Given the description of an element on the screen output the (x, y) to click on. 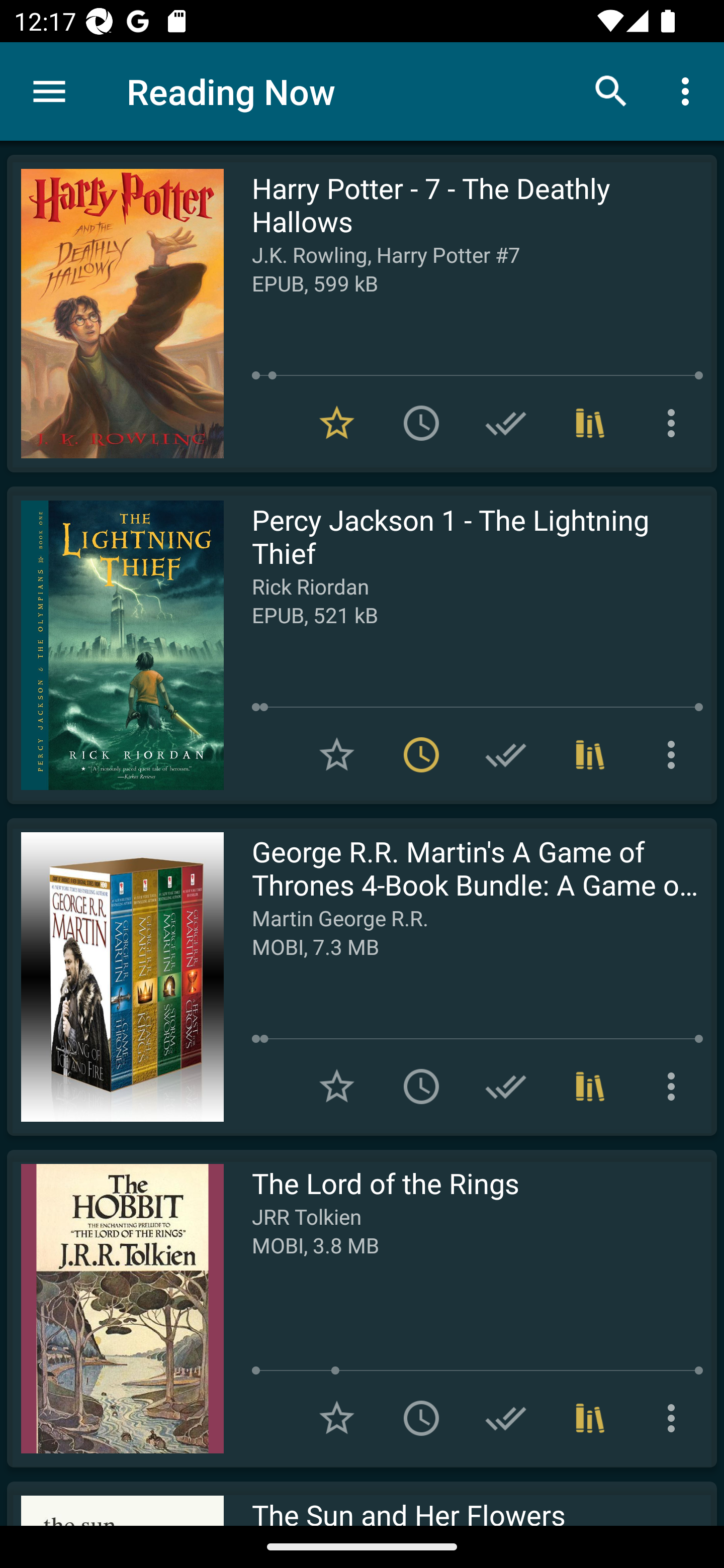
Menu (49, 91)
Search books & documents (611, 90)
More options (688, 90)
Read Harry Potter - 7 - The Deathly Hallows (115, 313)
Remove from Favorites (336, 423)
Add to To read (421, 423)
Add to Have read (505, 423)
Collections (1) (590, 423)
More options (674, 423)
Read Percy Jackson 1 - The Lightning Thief (115, 645)
Add to Favorites (336, 753)
Remove from To read (421, 753)
Add to Have read (505, 753)
Collections (1) (590, 753)
More options (674, 753)
Add to Favorites (336, 1086)
Add to To read (421, 1086)
Add to Have read (505, 1086)
Collections (1) (590, 1086)
More options (674, 1086)
Read The Lord of the Rings (115, 1308)
Add to Favorites (336, 1417)
Add to To read (421, 1417)
Add to Have read (505, 1417)
Collections (1) (590, 1417)
More options (674, 1417)
